Given the description of an element on the screen output the (x, y) to click on. 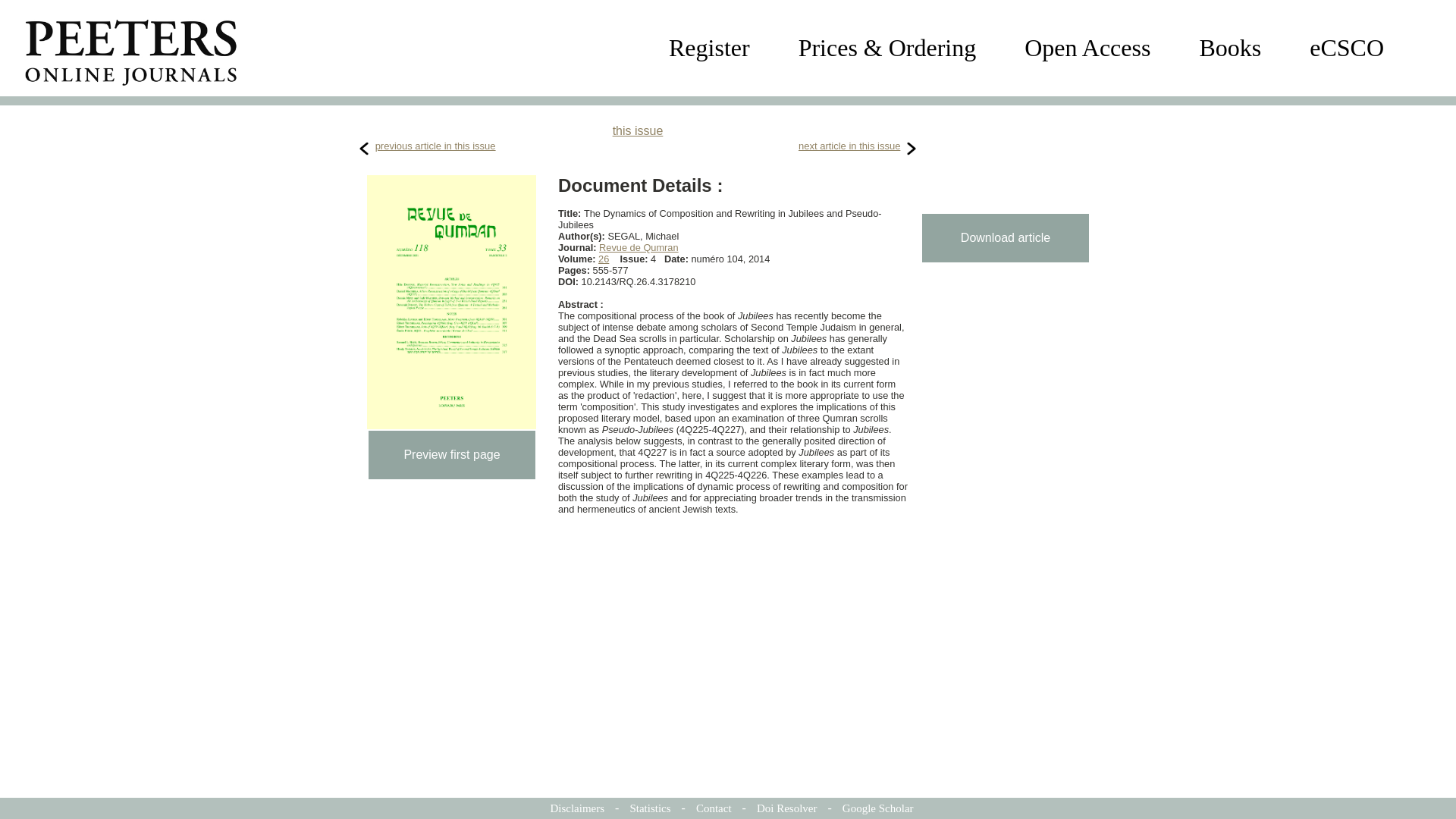
Statistics (649, 807)
Contact (713, 807)
eCSCO (1346, 47)
this issue (637, 130)
Download article (1005, 237)
Open Access (1087, 47)
Doi Resolver (787, 807)
Google Scholar (877, 807)
Disclaimers (576, 807)
Register (708, 47)
26 (603, 258)
previous article in this issue (435, 145)
Books (1229, 47)
Revue de Qumran (638, 247)
next article in this issue (848, 145)
